Given the description of an element on the screen output the (x, y) to click on. 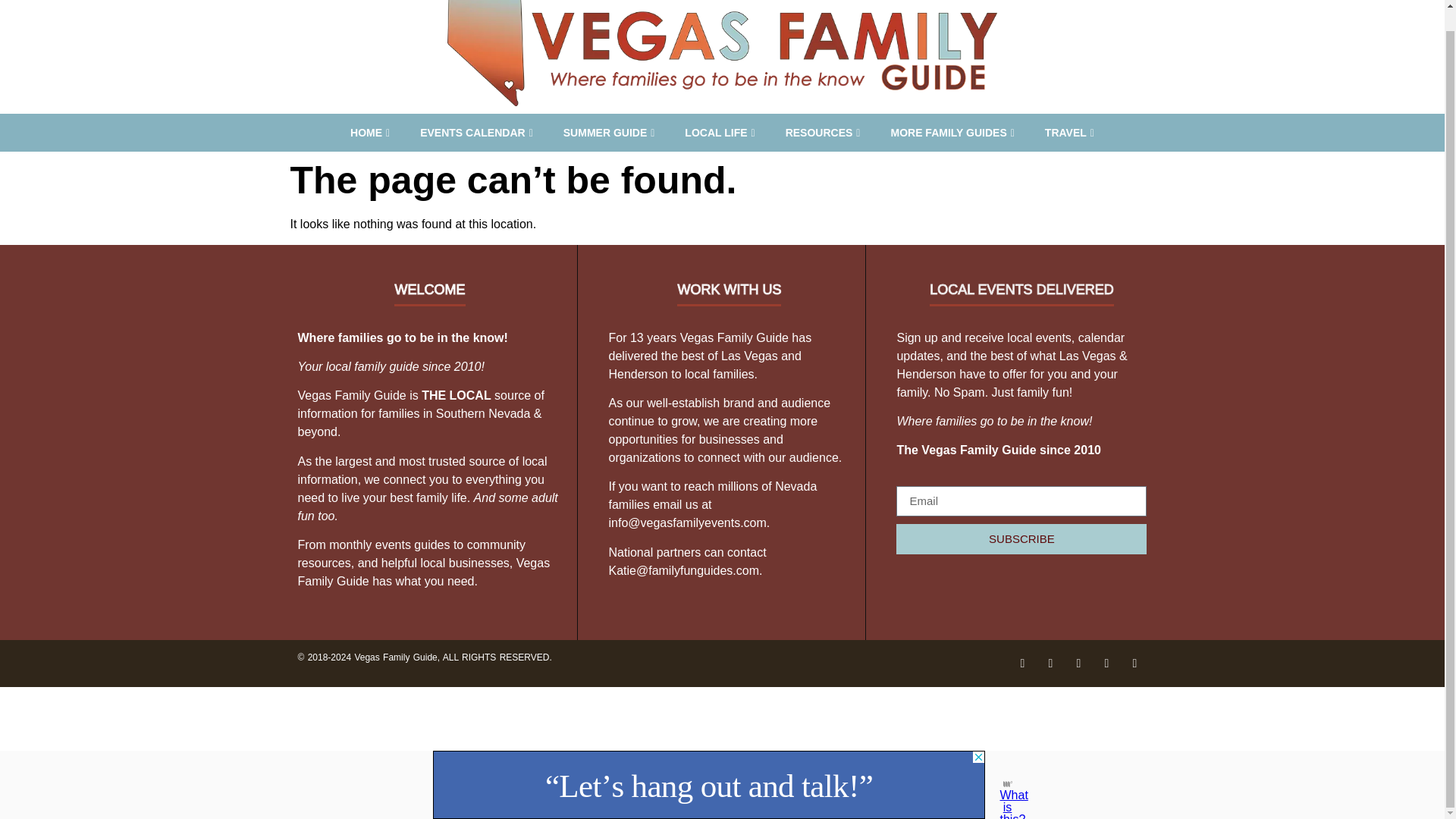
SUMMER GUIDE (608, 132)
HOME (369, 132)
3rd party ad content (708, 764)
EVENTS CALENDAR (476, 132)
LOCAL LIFE (719, 132)
